Given the description of an element on the screen output the (x, y) to click on. 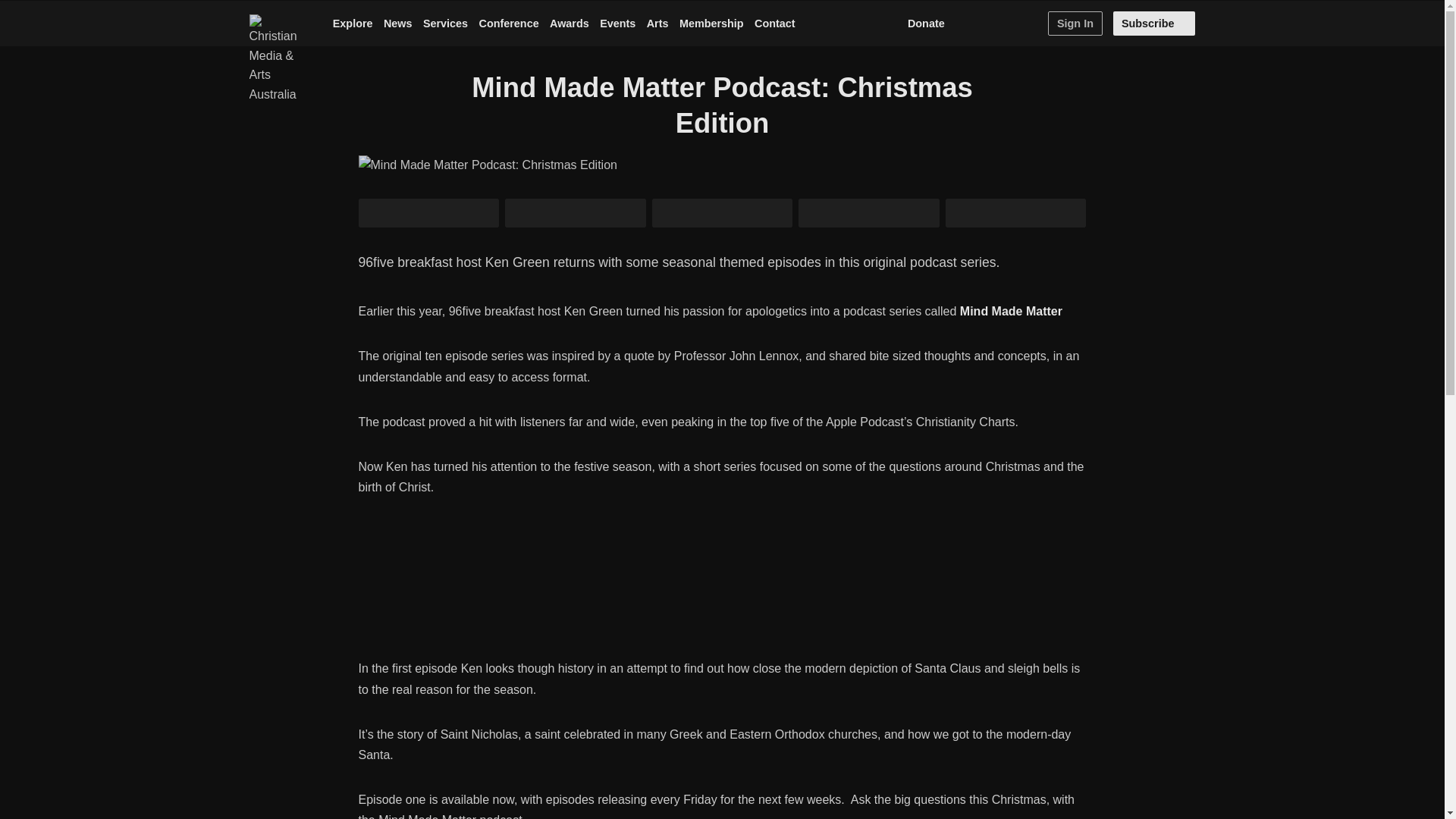
News (397, 23)
Share on Twitter (428, 213)
Events (617, 23)
Contact (774, 23)
Christmas Edition 1 - From Christ to Santa (722, 589)
Share on Facebook (575, 213)
Share on Linkedin (722, 213)
Share by email (868, 213)
Copy to clipboard (1015, 213)
Conference (508, 23)
Search (1031, 23)
Membership (711, 23)
Donate (925, 23)
Arts (657, 23)
Services (445, 23)
